Given the description of an element on the screen output the (x, y) to click on. 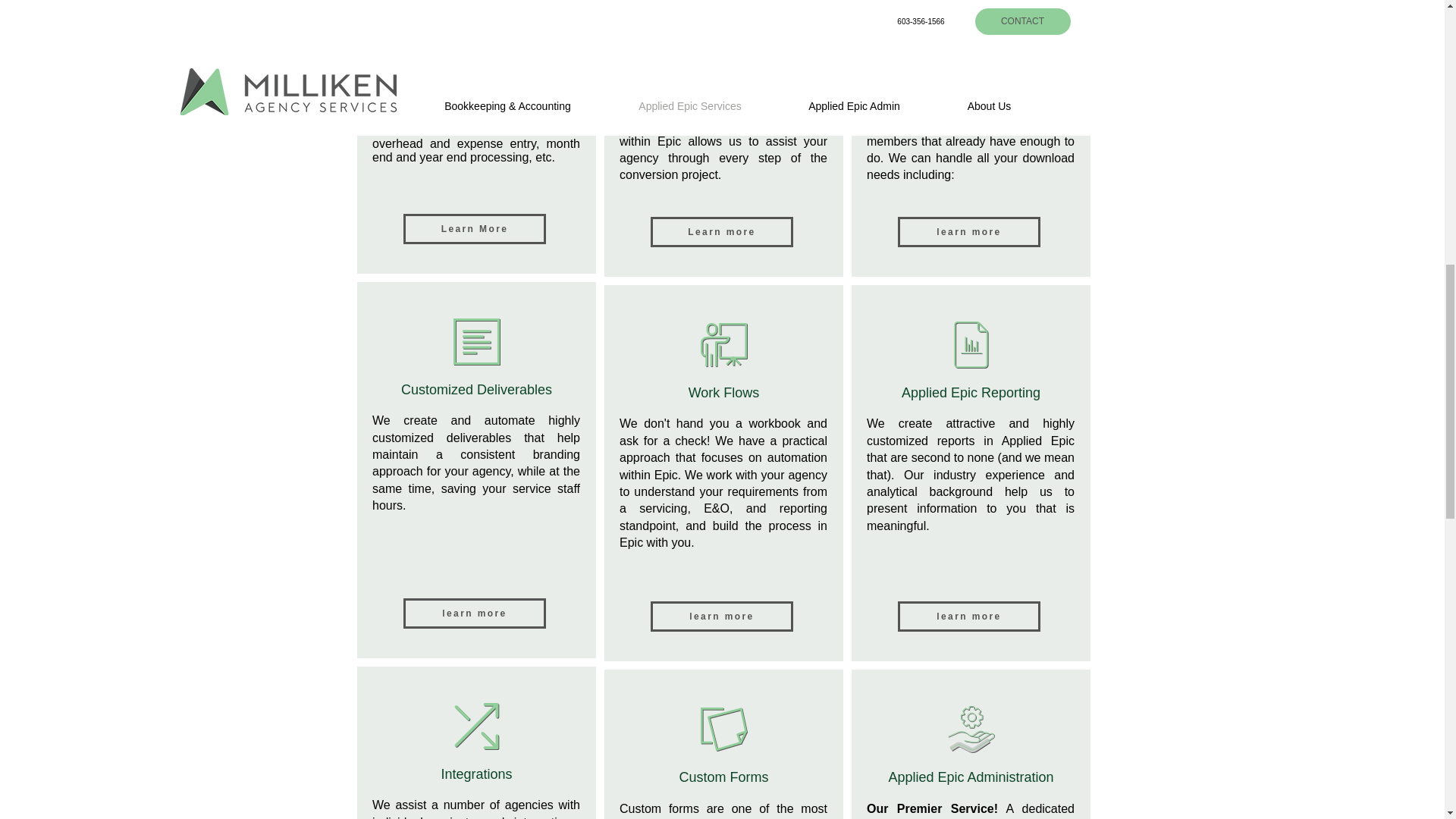
learn more (969, 616)
learn more (721, 616)
learn more (969, 232)
Learn more (721, 232)
Learn More (474, 228)
learn more (474, 613)
